Given the description of an element on the screen output the (x, y) to click on. 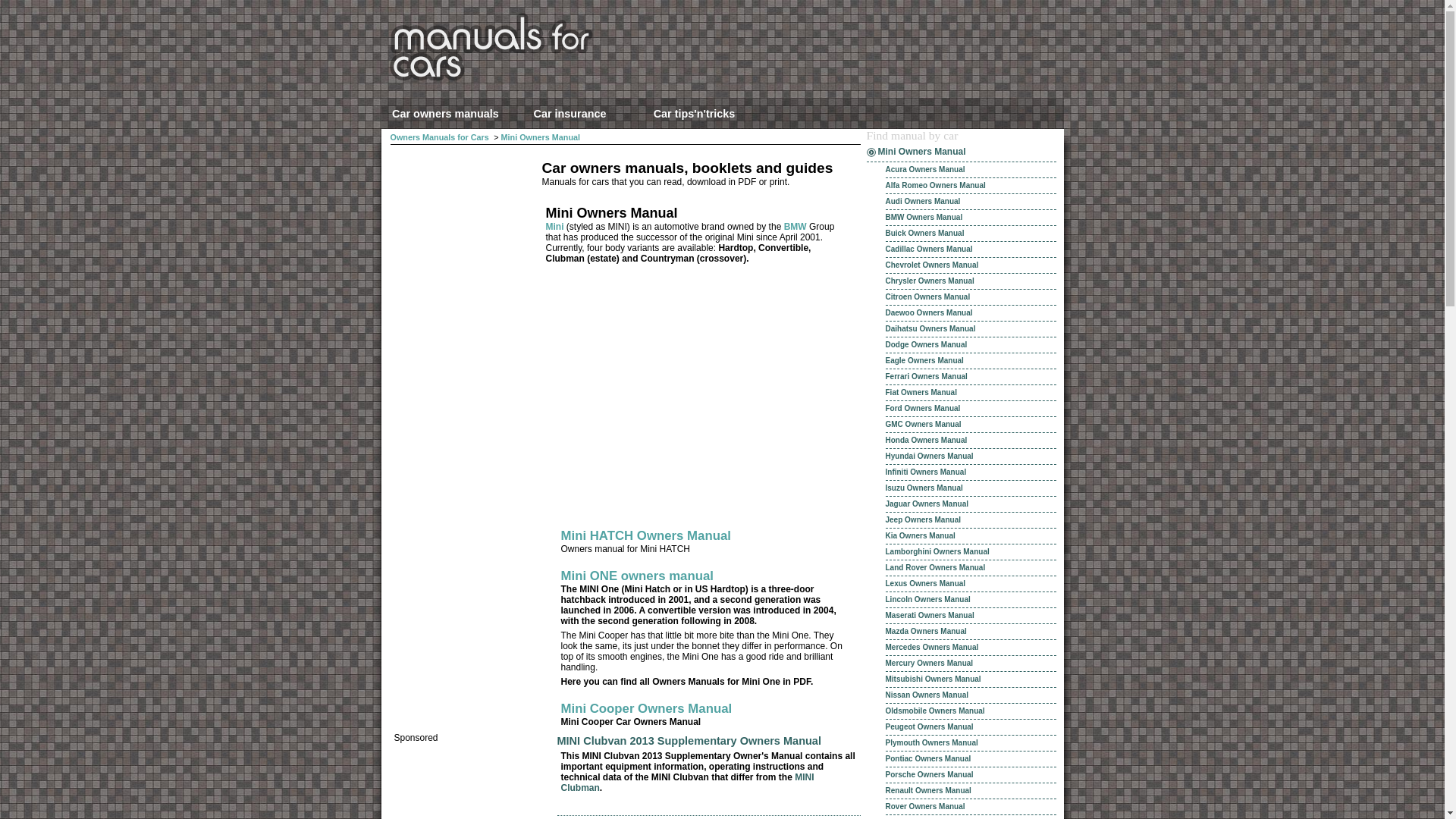
Alfa Romeo Owners Manual (971, 186)
Kia Owners Manual (971, 536)
Cheap car insurance (569, 113)
Maserati Owners Manual (971, 616)
Nissan Owners Manual (971, 695)
Car advices (694, 113)
Dodge Owners Manual (971, 344)
Mercedes Owners Manual (971, 647)
Isuzu Owners Manual (971, 488)
Lincoln Owners Manual (971, 600)
